Given the description of an element on the screen output the (x, y) to click on. 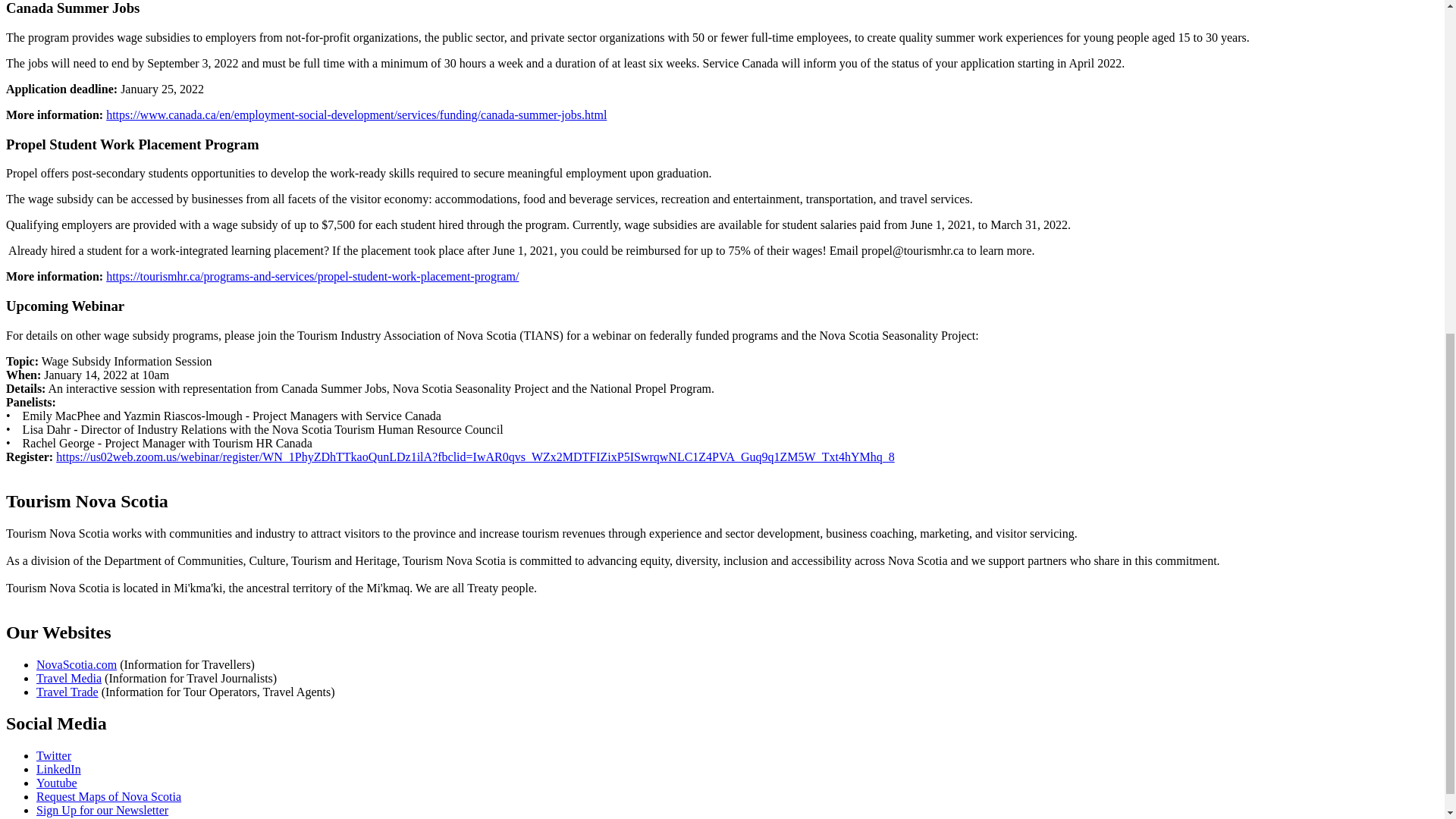
Information for Tour Operators, Travel Agents (67, 691)
Information for Travel Journalists (68, 677)
Information for Travellers (76, 664)
